Given the description of an element on the screen output the (x, y) to click on. 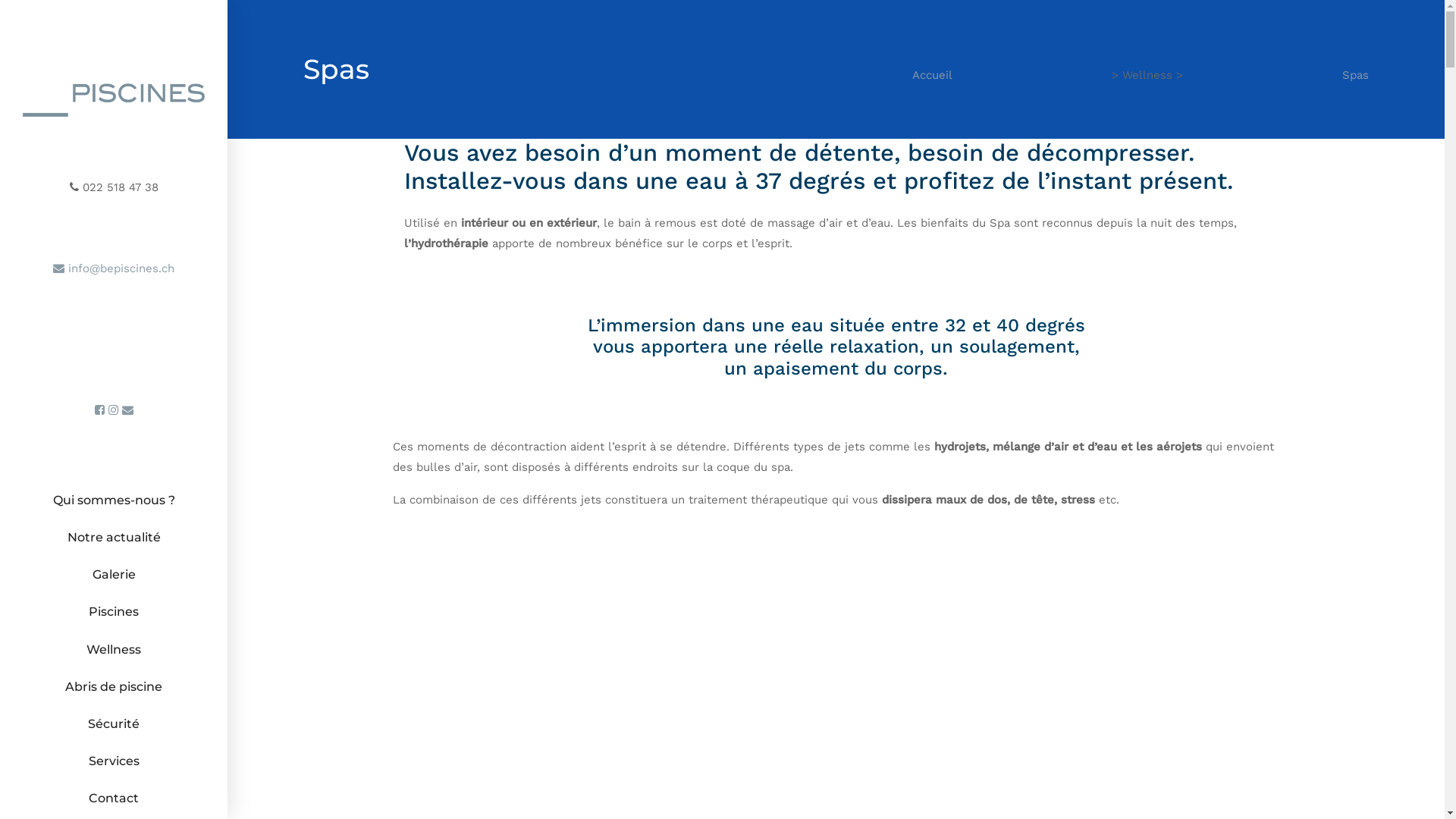
Accueil Element type: text (931, 75)
Spas Element type: text (1355, 75)
Abris de piscine Element type: text (113, 686)
Services Element type: text (113, 760)
Galerie Element type: text (113, 574)
Contact Element type: text (113, 797)
info@bepiscines.ch Element type: text (113, 268)
Piscines Element type: text (113, 611)
Wellness Element type: text (113, 649)
Qui sommes-nous ? Element type: text (113, 499)
